Given the description of an element on the screen output the (x, y) to click on. 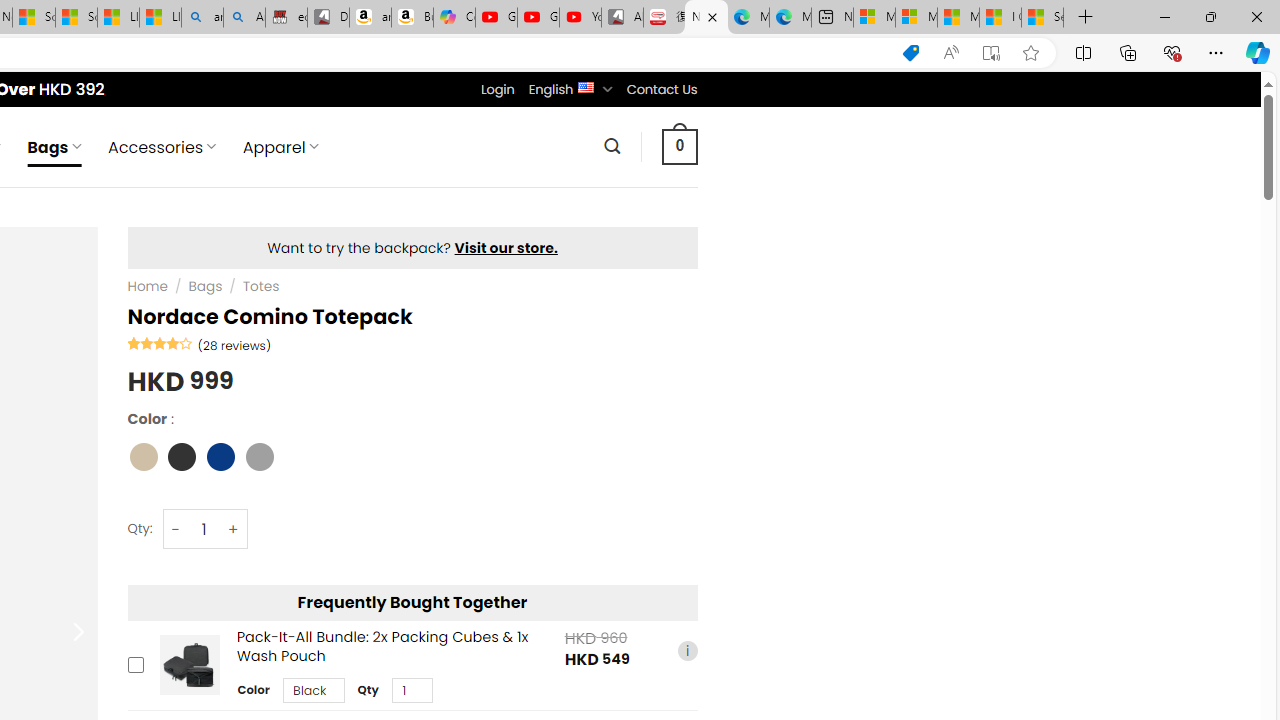
  0   (679, 146)
+ (234, 529)
Login (497, 89)
Totes (260, 286)
amazon.in/dp/B0CX59H5W7/?tag=gsmcom05-21 (369, 17)
 0  (679, 146)
Contact Us (661, 89)
Gloom - YouTube (538, 17)
Microsoft account | Privacy (916, 17)
Pack-It-All Bundle: 2x Packing Cubes & 1x Wash Pouch (189, 665)
